Given the description of an element on the screen output the (x, y) to click on. 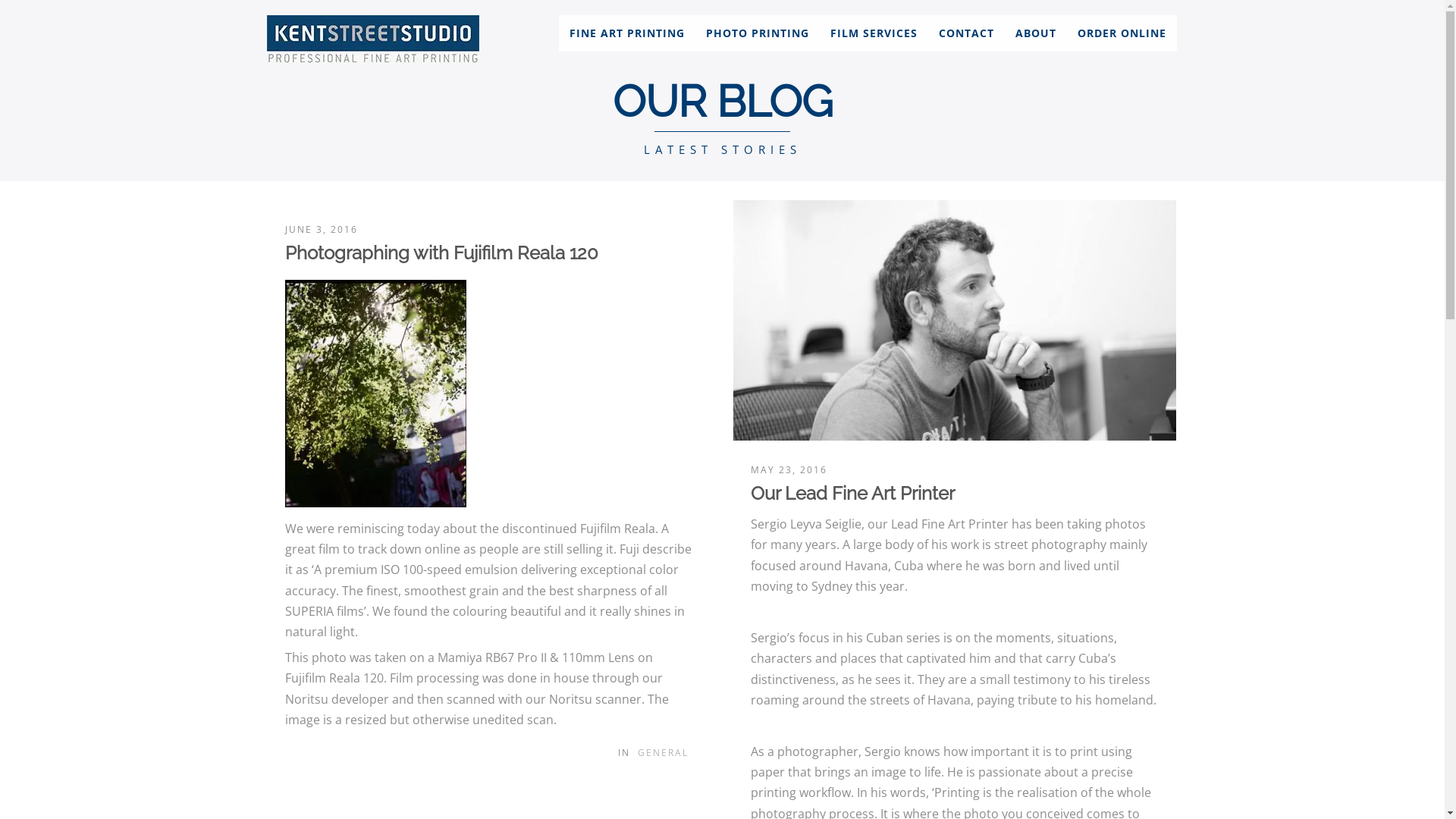
CONTACT Element type: text (966, 32)
ABOUT Element type: text (1035, 32)
FINE ART PRINTING Element type: text (626, 32)
ORDER ONLINE Element type: text (1121, 32)
PHOTO PRINTING Element type: text (757, 32)
FILM SERVICES Element type: text (873, 32)
Photographing with Fujifilm Reala 120 Element type: text (441, 252)
GENERAL Element type: text (662, 752)
Our Lead Fine Art Printer Element type: text (852, 493)
